Given the description of an element on the screen output the (x, y) to click on. 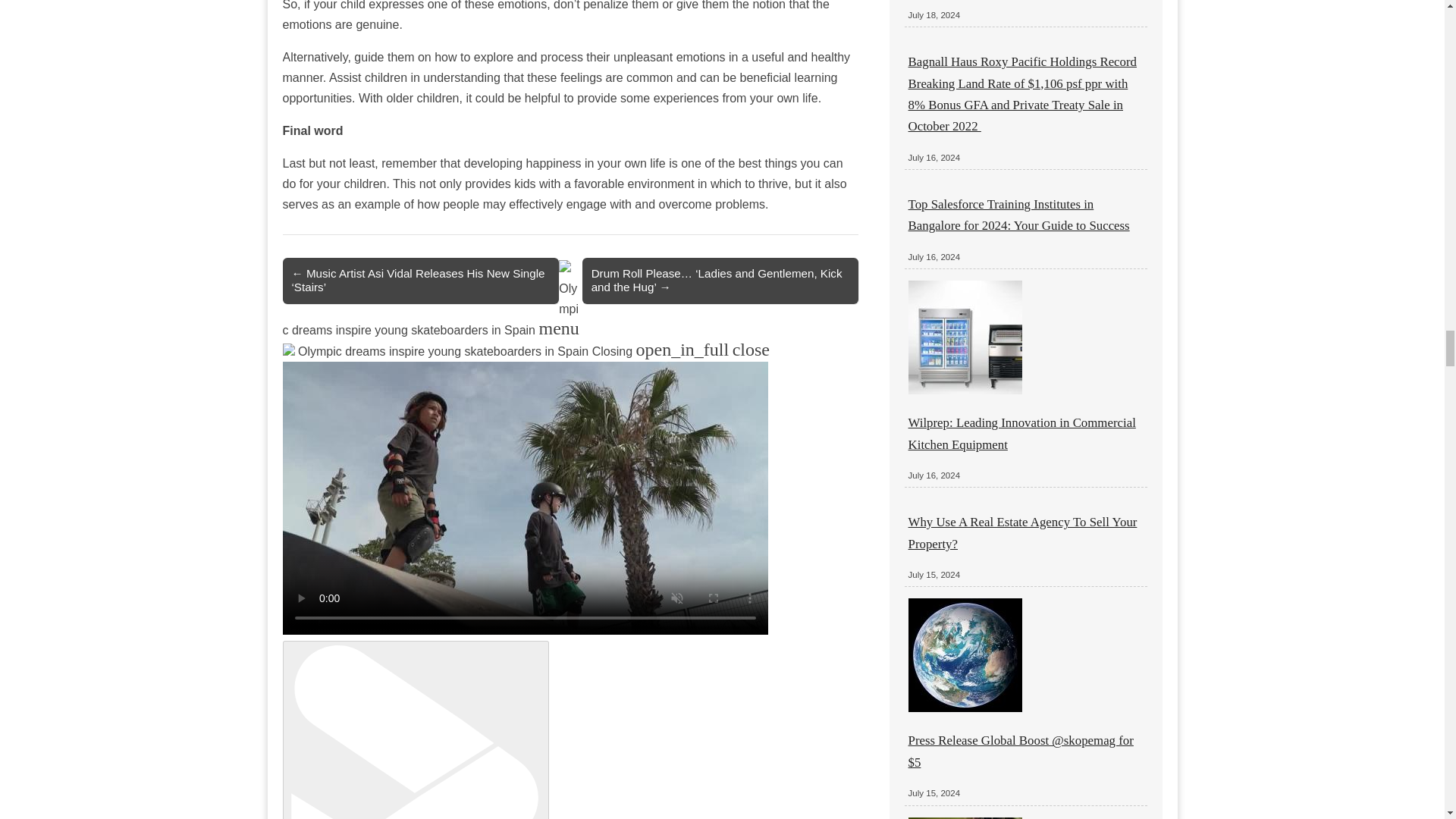
Why Use A Real Estate Agency To Sell Your Property? (1022, 532)
Wilprep: Leading Innovation in Commercial Kitchen Equipment (1021, 433)
